Given the description of an element on the screen output the (x, y) to click on. 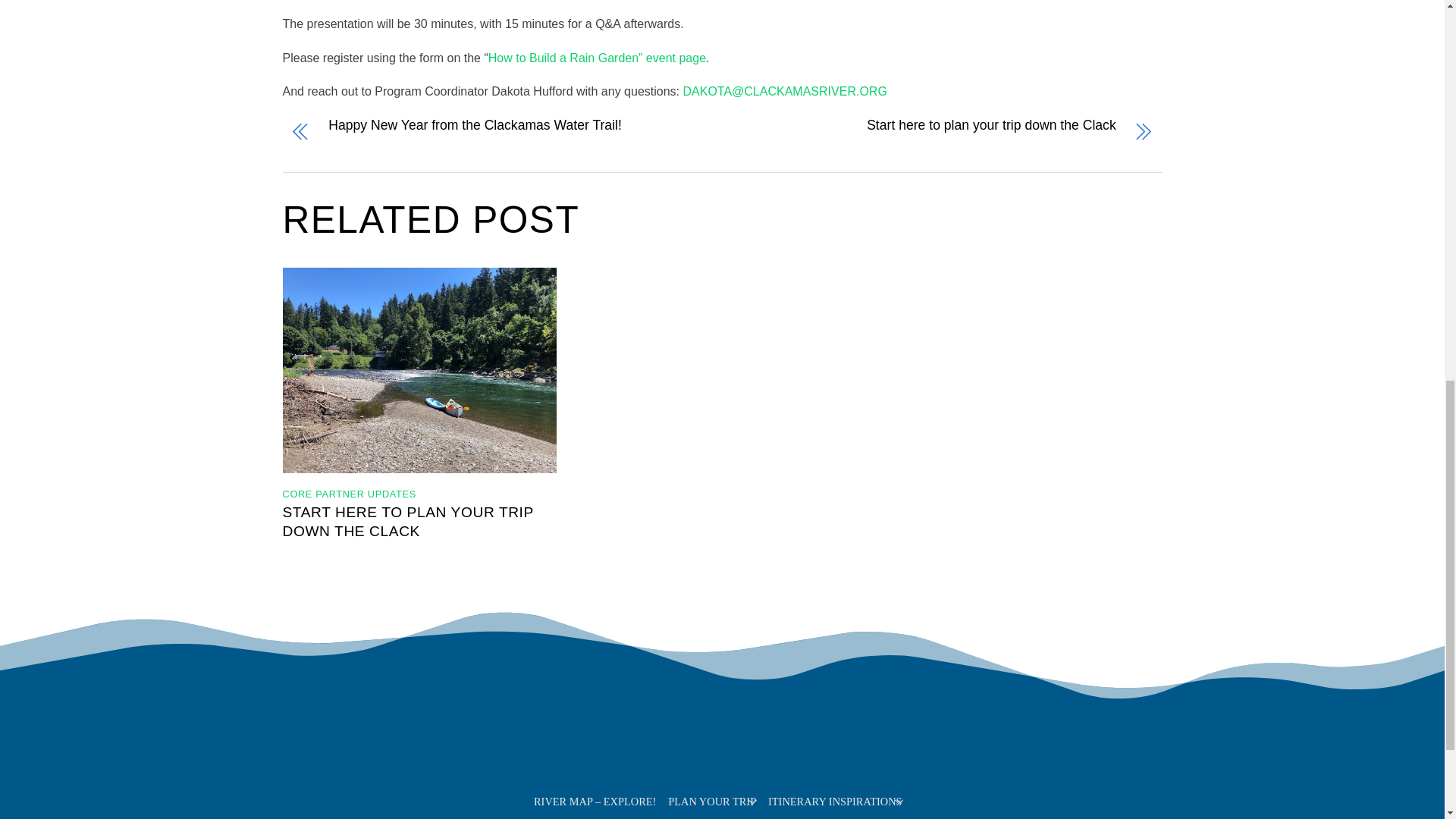
CORE PARTNER UPDATES (348, 493)
Happy New Year from the Clackamas Water Trail! (502, 133)
START HERE TO PLAN YOUR TRIP DOWN THE CLACK (407, 521)
Start here to plan your trip down the Clack (941, 133)
